Given the description of an element on the screen output the (x, y) to click on. 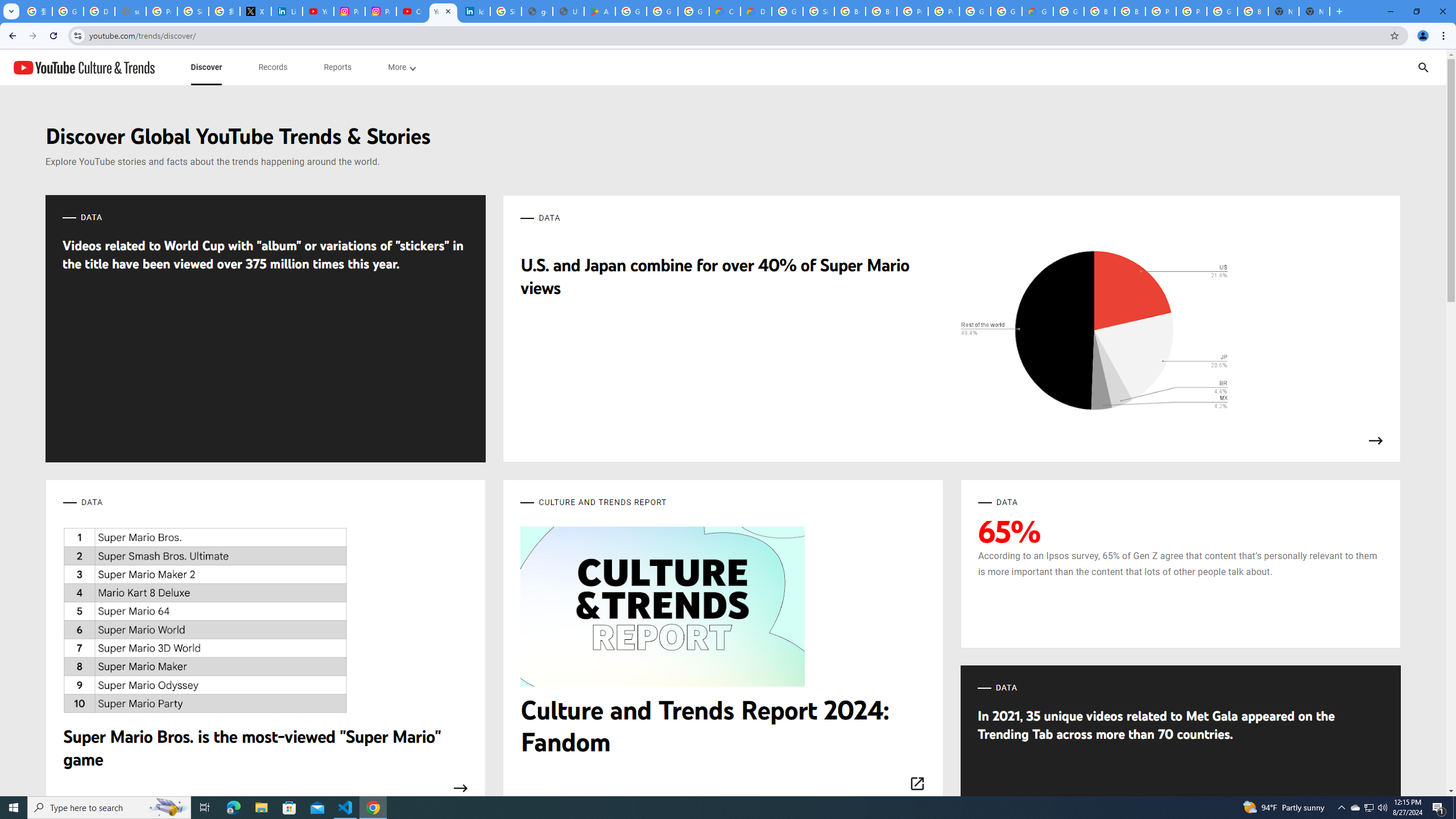
YouTube Content Monetization Policies - How YouTube Works (318, 11)
YouTube Culture & Trends (83, 67)
support.google.com - Network error (130, 11)
Google Workspace - Specific Terms (693, 11)
Google Cloud Platform (1222, 11)
X (255, 11)
